Given the description of an element on the screen output the (x, y) to click on. 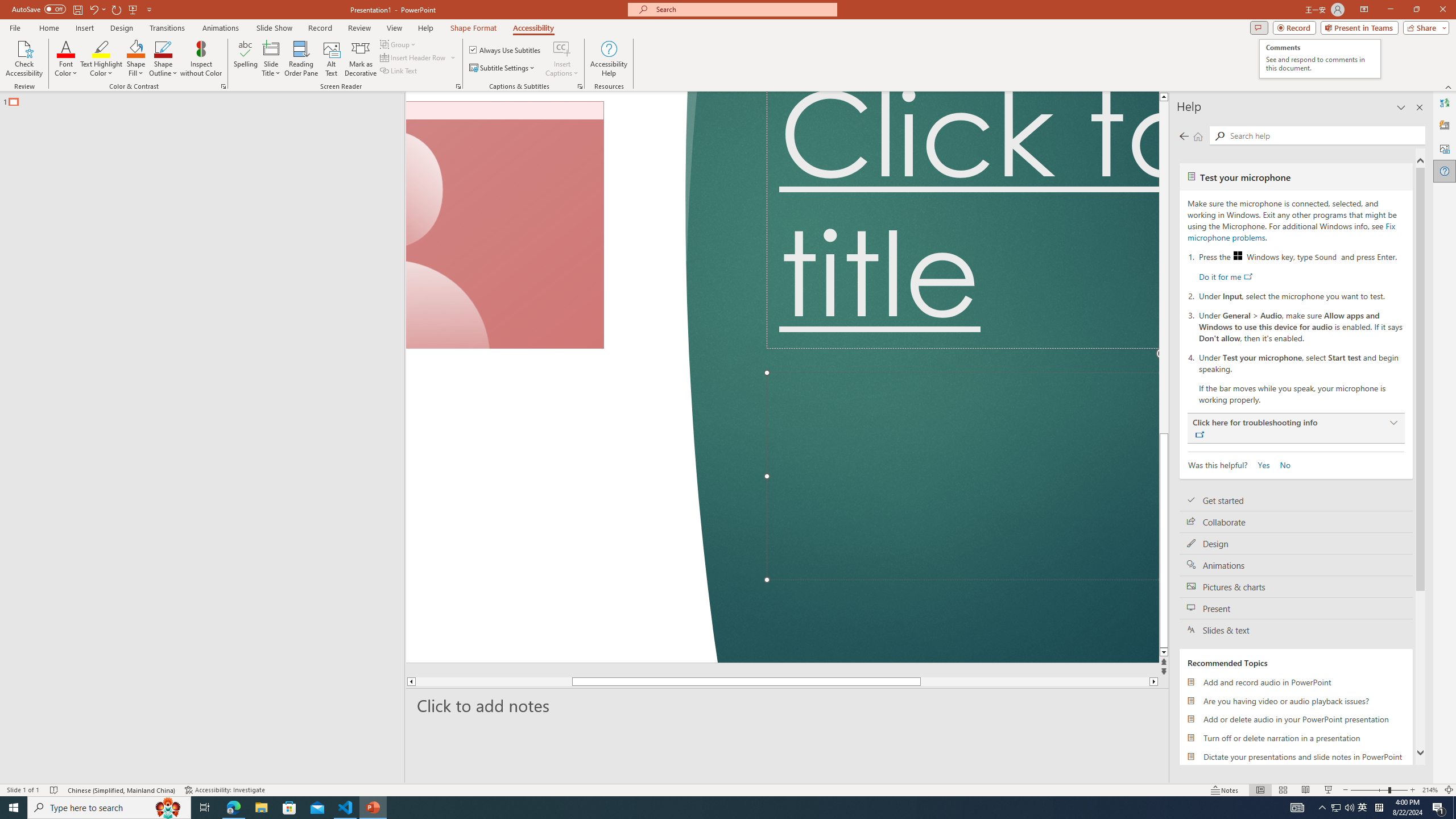
New Windows key logo (1238, 255)
Subtitle Settings (502, 67)
Page up (1245, 266)
Are you having video or audio playback issues? (1295, 700)
Present in Teams (1359, 27)
Designer (1444, 125)
Design (122, 28)
Minimize (1390, 9)
Screen Reader (458, 85)
Accessibility (533, 28)
Reading View (1305, 790)
Design (1295, 543)
Insert Captions (561, 58)
Ribbon Display Options (1364, 9)
